Given the description of an element on the screen output the (x, y) to click on. 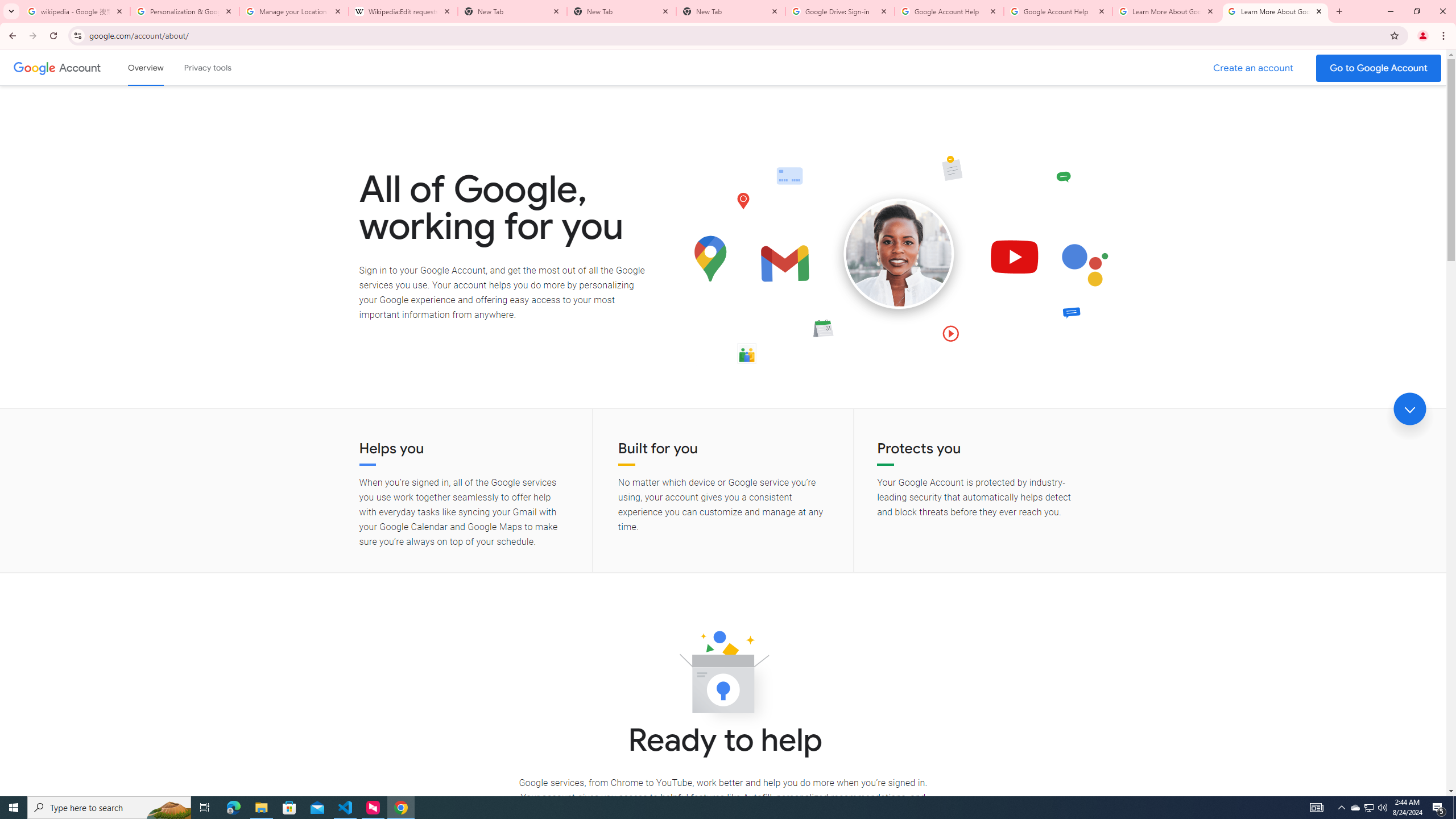
Manage your Location History - Google Search Help (293, 11)
Google Account overview (145, 67)
Google Account Help (1058, 11)
Google Account Help (949, 11)
